Given the description of an element on the screen output the (x, y) to click on. 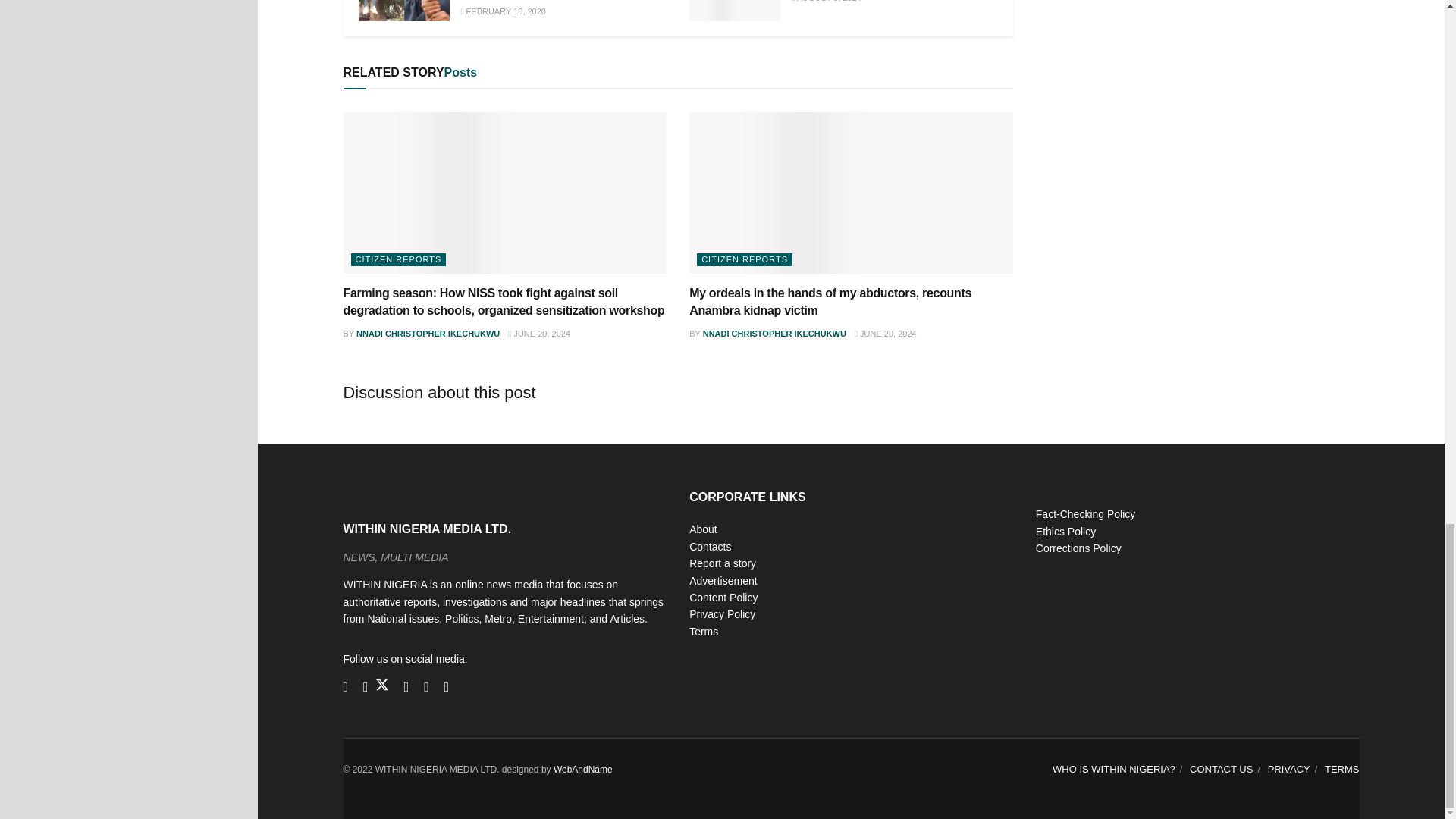
WEB AND NAME (582, 769)
